Given the description of an element on the screen output the (x, y) to click on. 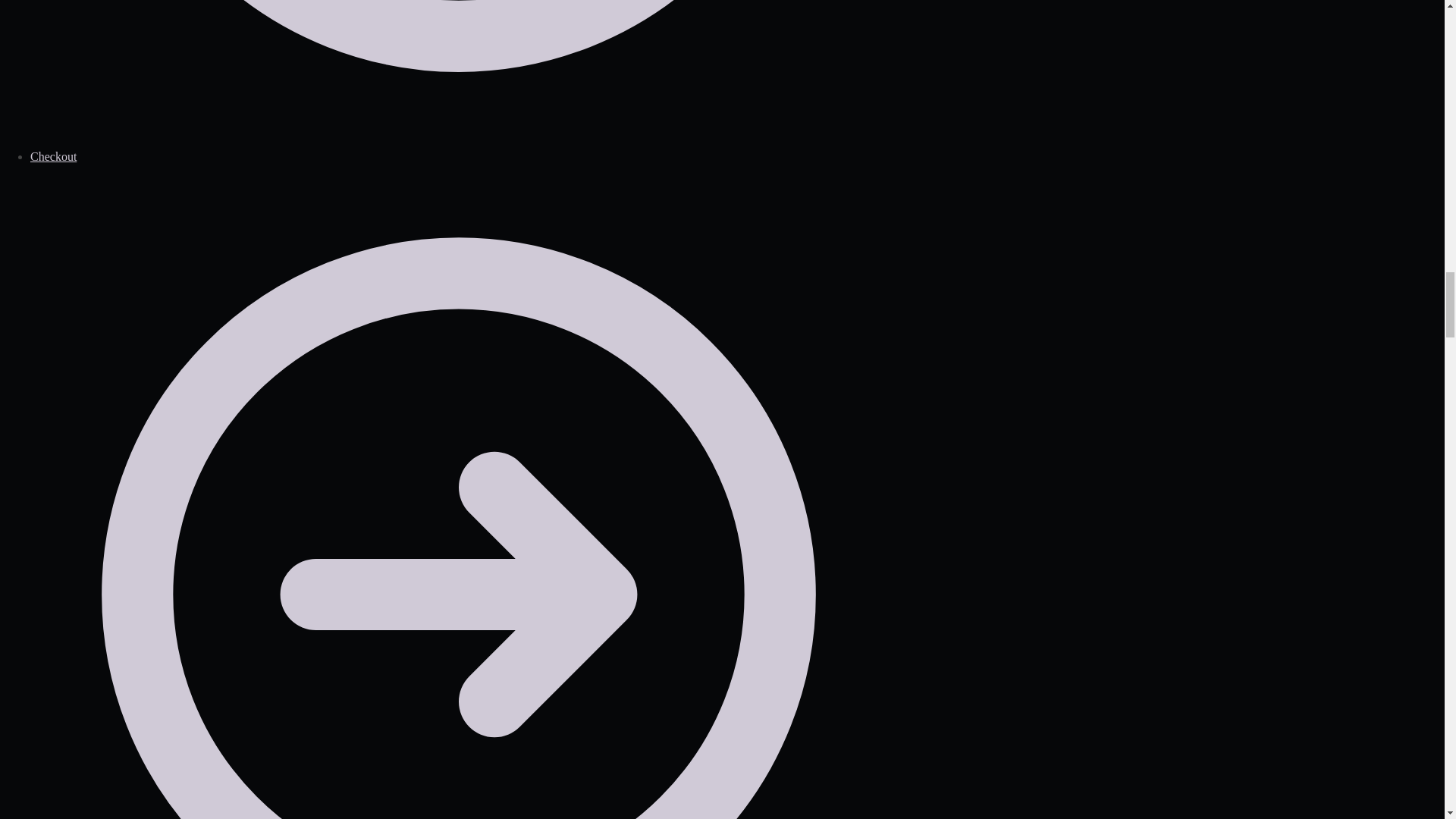
Customer Help (458, 74)
